Given the description of an element on the screen output the (x, y) to click on. 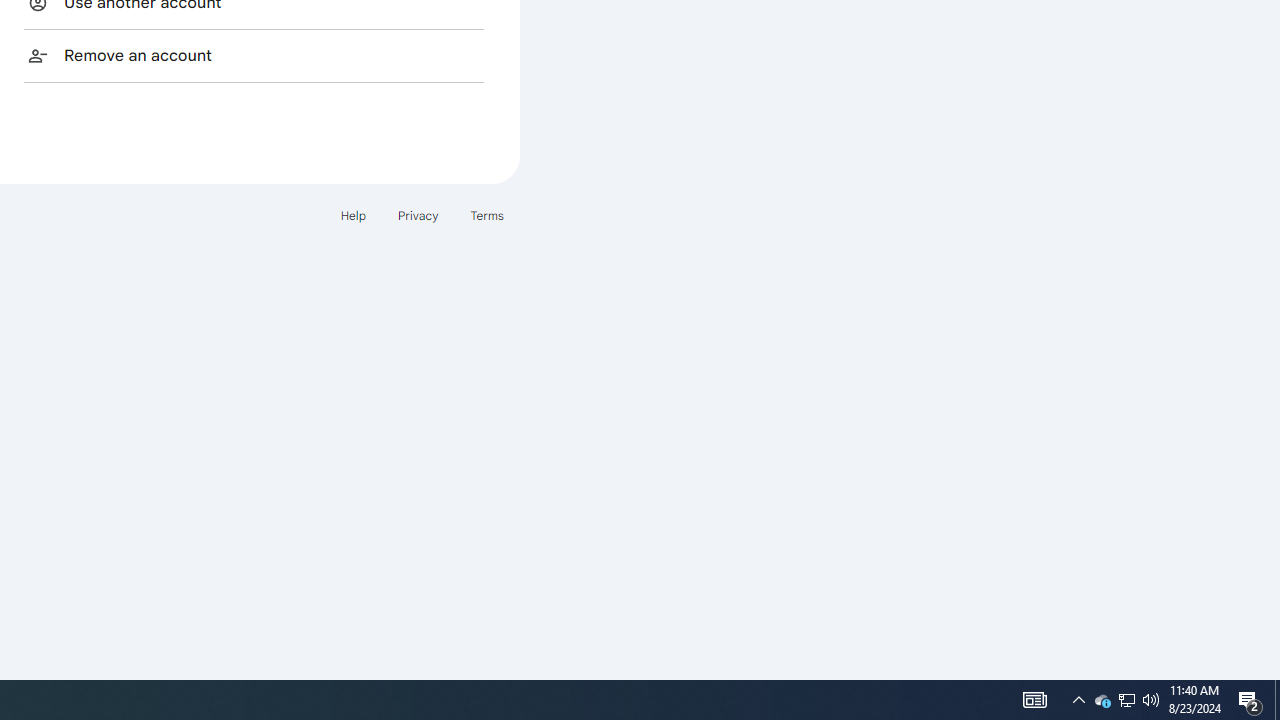
Terms (486, 214)
Remove an account (253, 55)
Help (352, 214)
Privacy (417, 214)
